Given the description of an element on the screen output the (x, y) to click on. 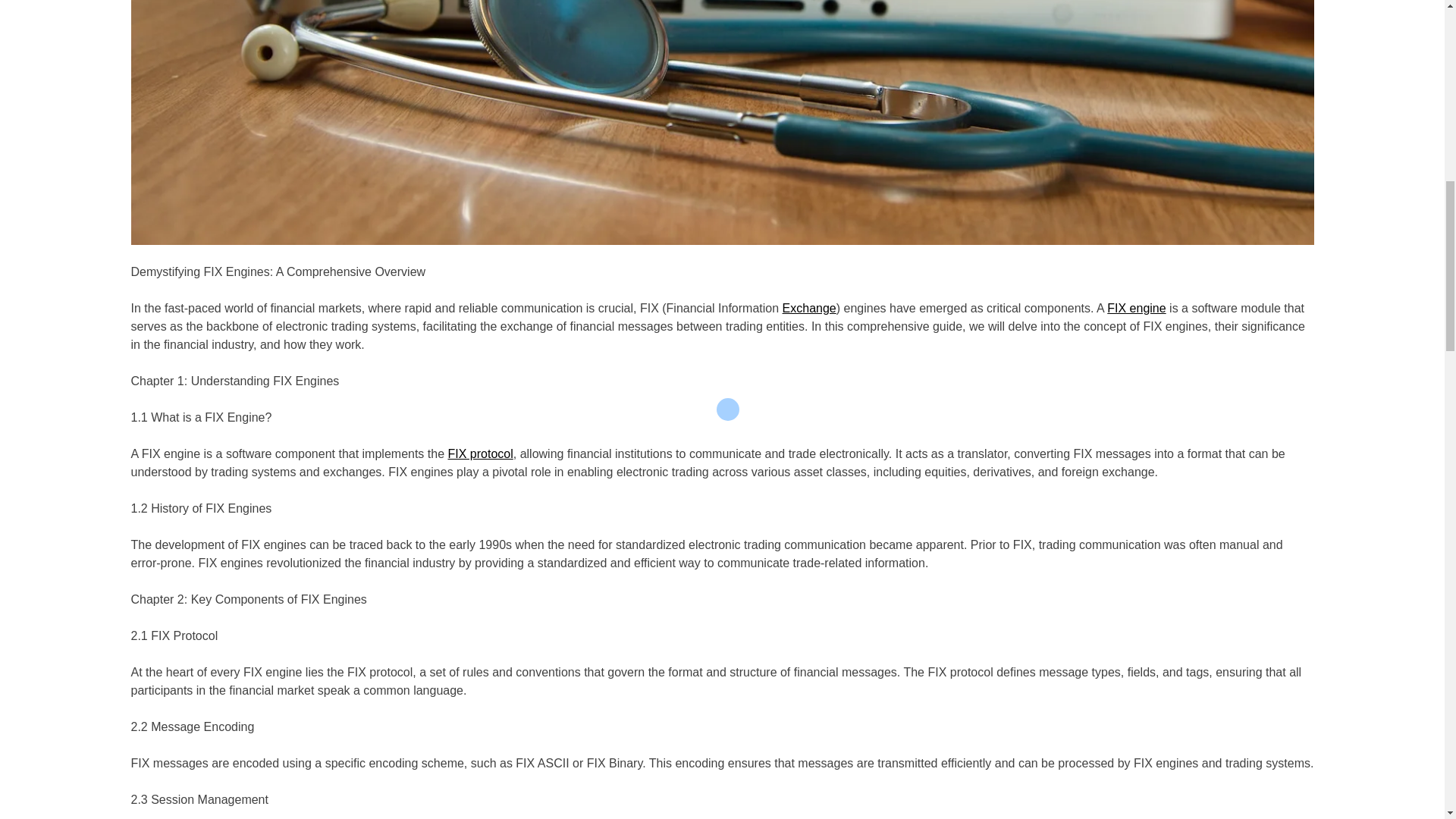
Exchange (809, 308)
FIX protocol (479, 453)
Exchange (809, 308)
FIX engine (1136, 308)
FIX protocol (479, 453)
FIX engine (1136, 308)
